Given the description of an element on the screen output the (x, y) to click on. 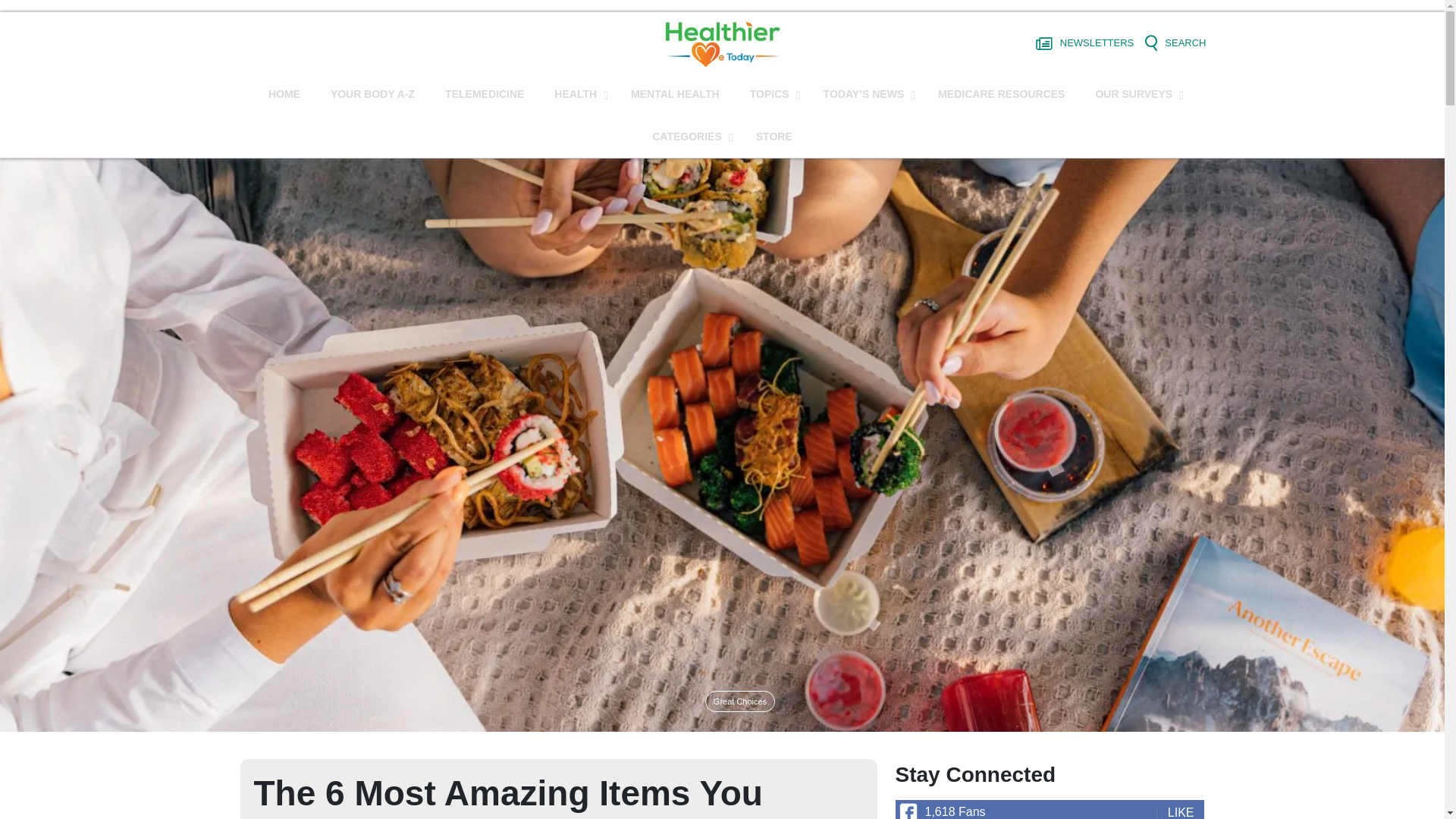
HEALTH (576, 93)
Healthier Me Today! (722, 42)
HOME (284, 93)
NEWSLETTERS (1084, 43)
TELEMEDICINE (483, 93)
YOUR BODY A-Z (372, 93)
SEARCH (1174, 43)
